Given the description of an element on the screen output the (x, y) to click on. 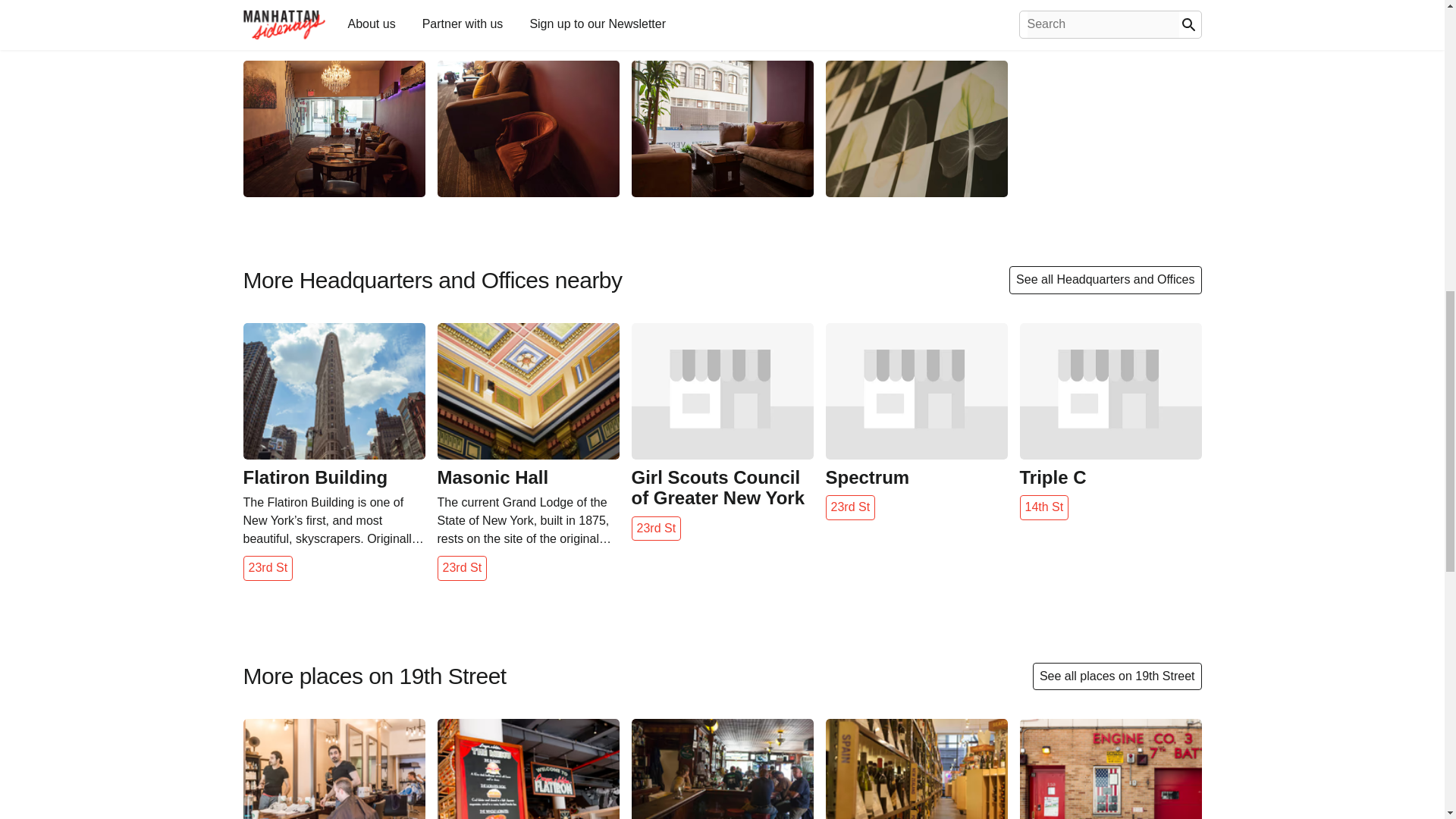
Facebook (328, 11)
23rd St (267, 567)
See all Headquarters and Offices (1105, 279)
Email (581, 11)
Twitter (415, 11)
Pinterest (499, 11)
